Given the description of an element on the screen output the (x, y) to click on. 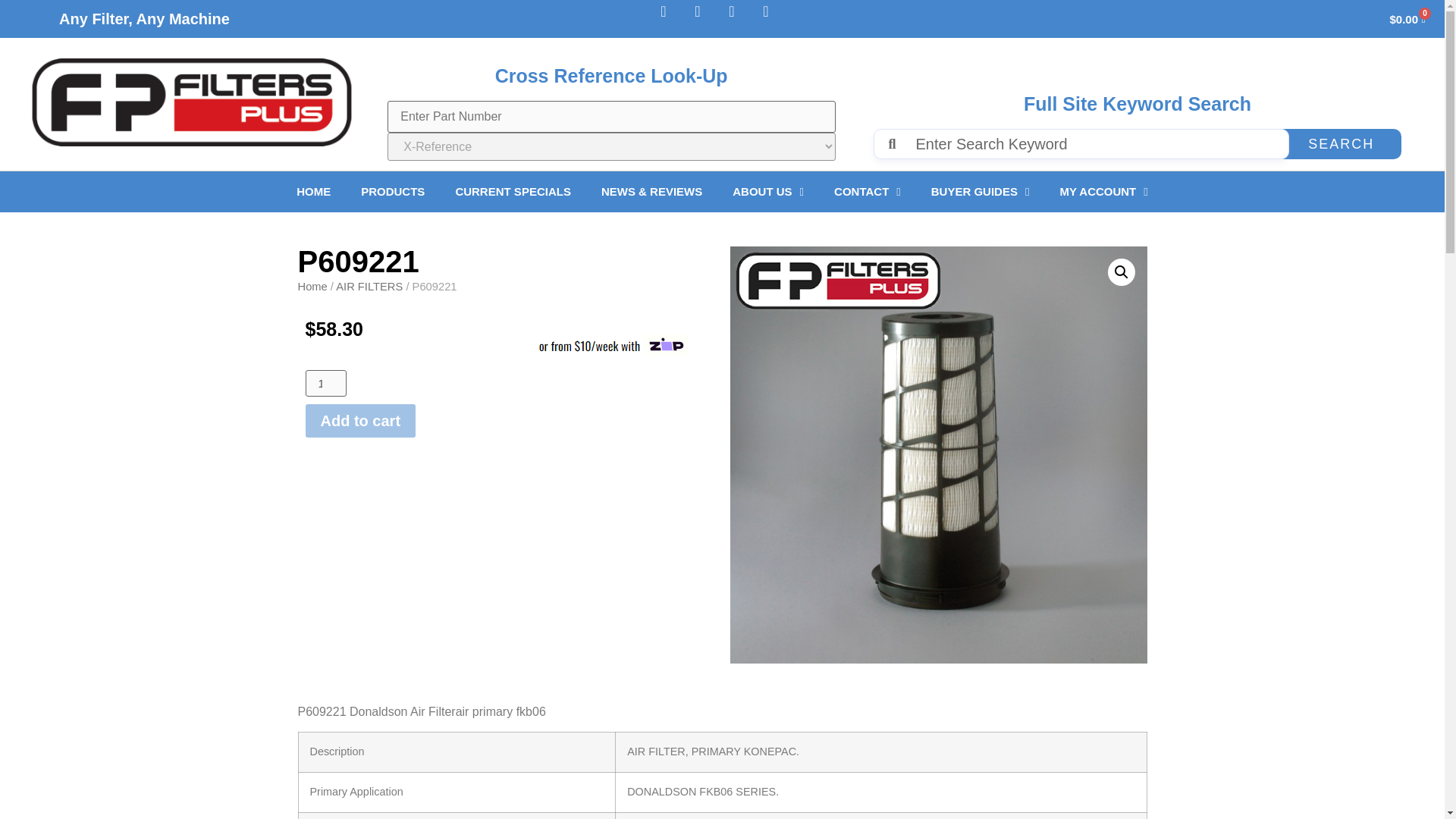
SEARCH (1340, 143)
HOME (313, 191)
CONTACT (866, 191)
PRODUCTS (392, 191)
MY ACCOUNT (1102, 191)
1 (325, 383)
CURRENT SPECIALS (512, 191)
ABOUT US (767, 191)
BUYER GUIDES (980, 191)
